Given the description of an element on the screen output the (x, y) to click on. 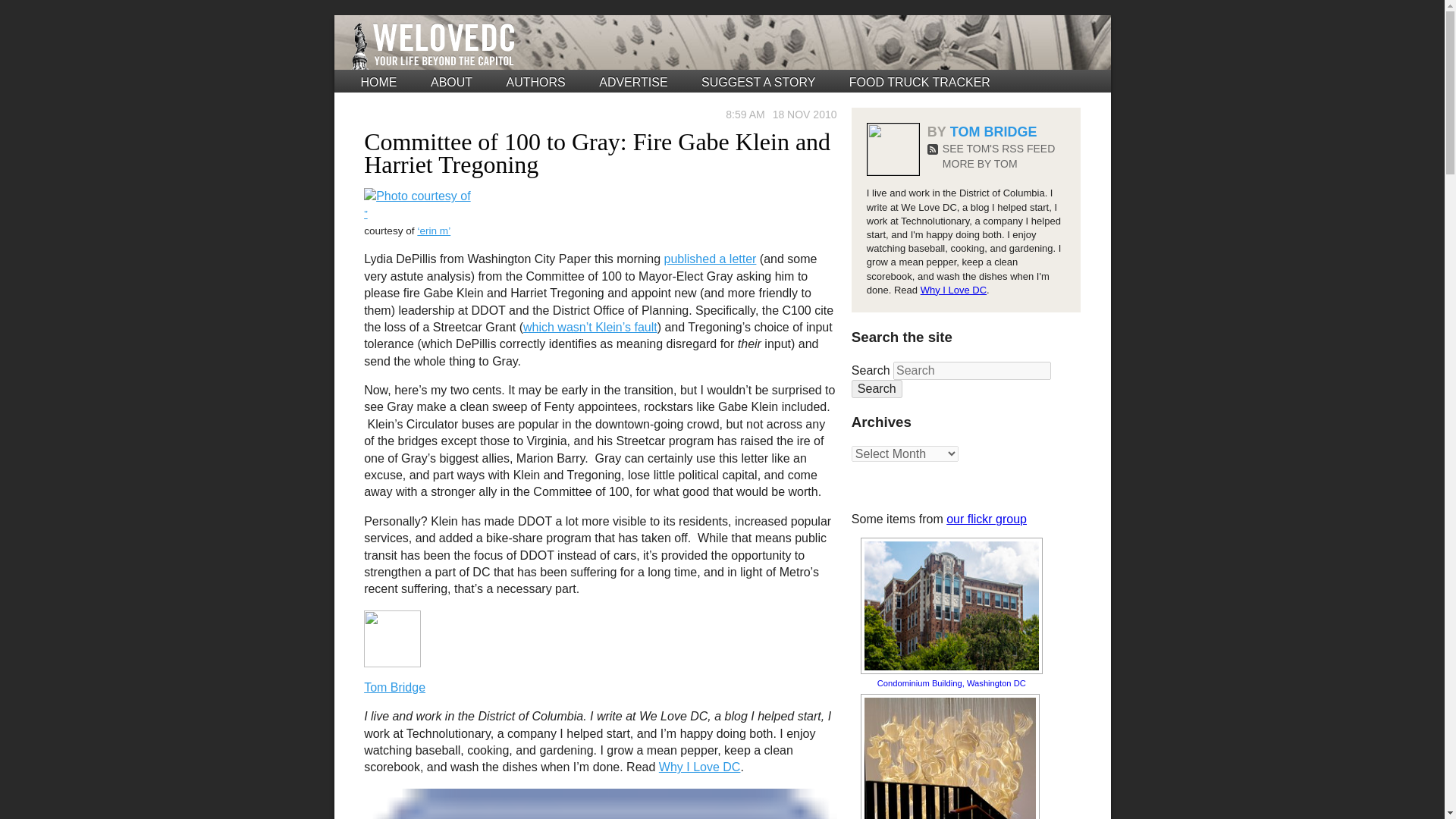
ABOUT (450, 82)
ADVERTISE (632, 82)
Why I Love DC (700, 766)
HOME (379, 82)
AUTHORS (536, 82)
published a letter (710, 258)
Tom Bridge (394, 686)
